Given the description of an element on the screen output the (x, y) to click on. 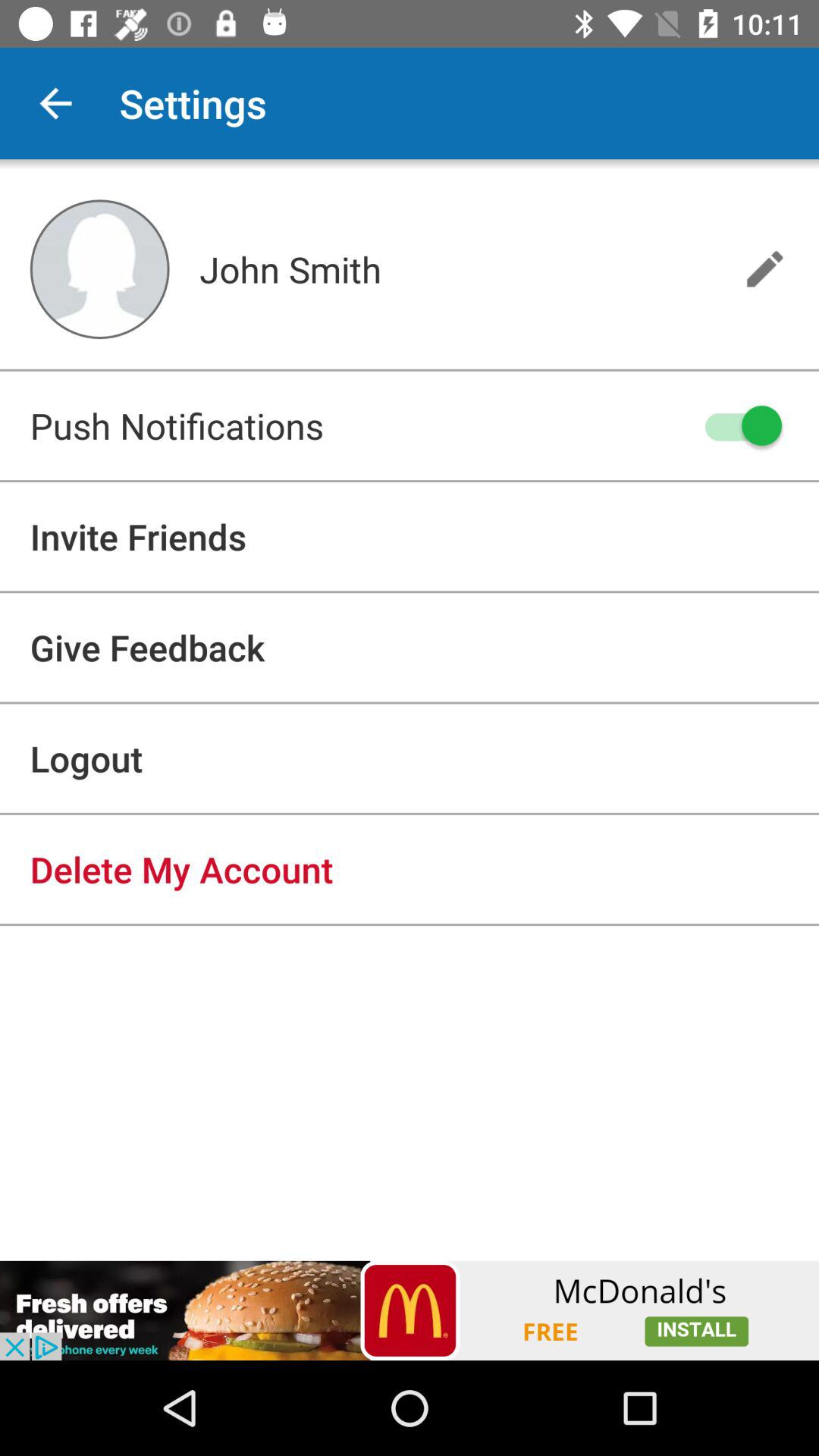
click on advertisement (409, 1310)
